Given the description of an element on the screen output the (x, y) to click on. 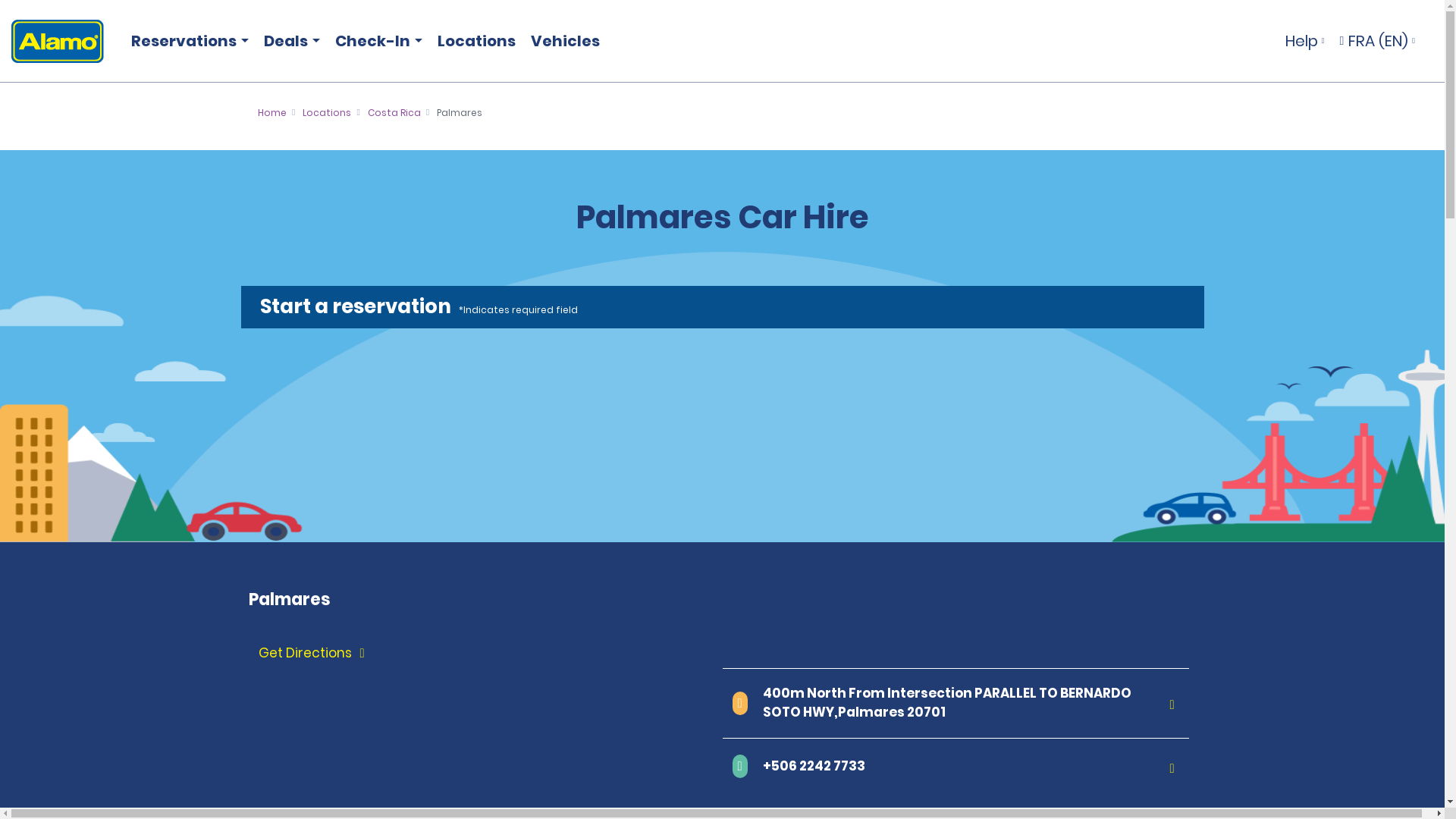
Reservations (185, 40)
Get Directions (489, 653)
Vehicles (564, 40)
Locations (475, 40)
Locations (326, 112)
Help (1305, 40)
Check-In (374, 40)
Costa Rica (394, 112)
Deals (288, 40)
Home (271, 112)
